Given the description of an element on the screen output the (x, y) to click on. 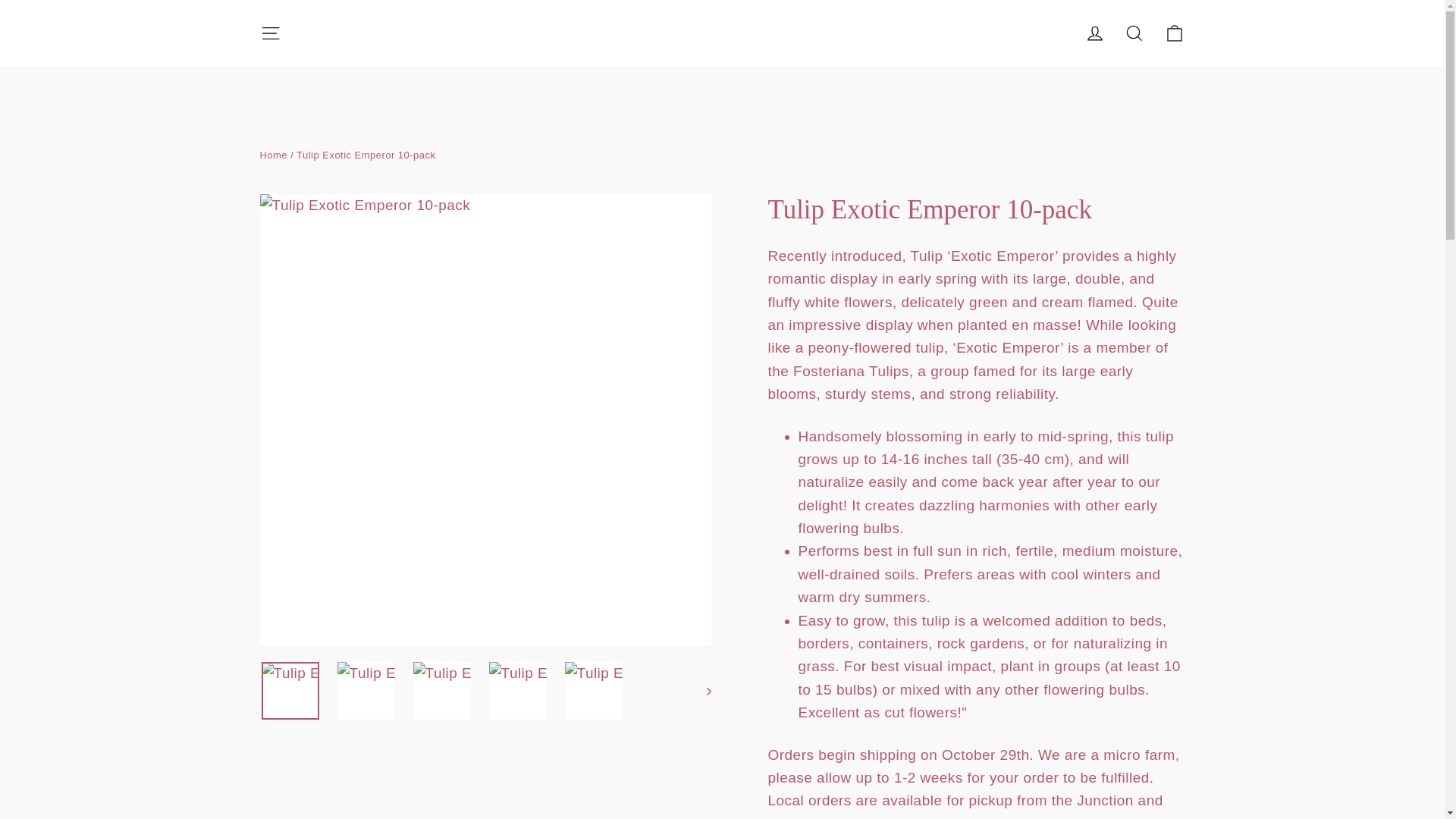
Search (1134, 33)
Back to the frontpage (272, 154)
Cart (1173, 33)
Log in (1095, 33)
Home (272, 154)
Site navigation (269, 33)
